Given the description of an element on the screen output the (x, y) to click on. 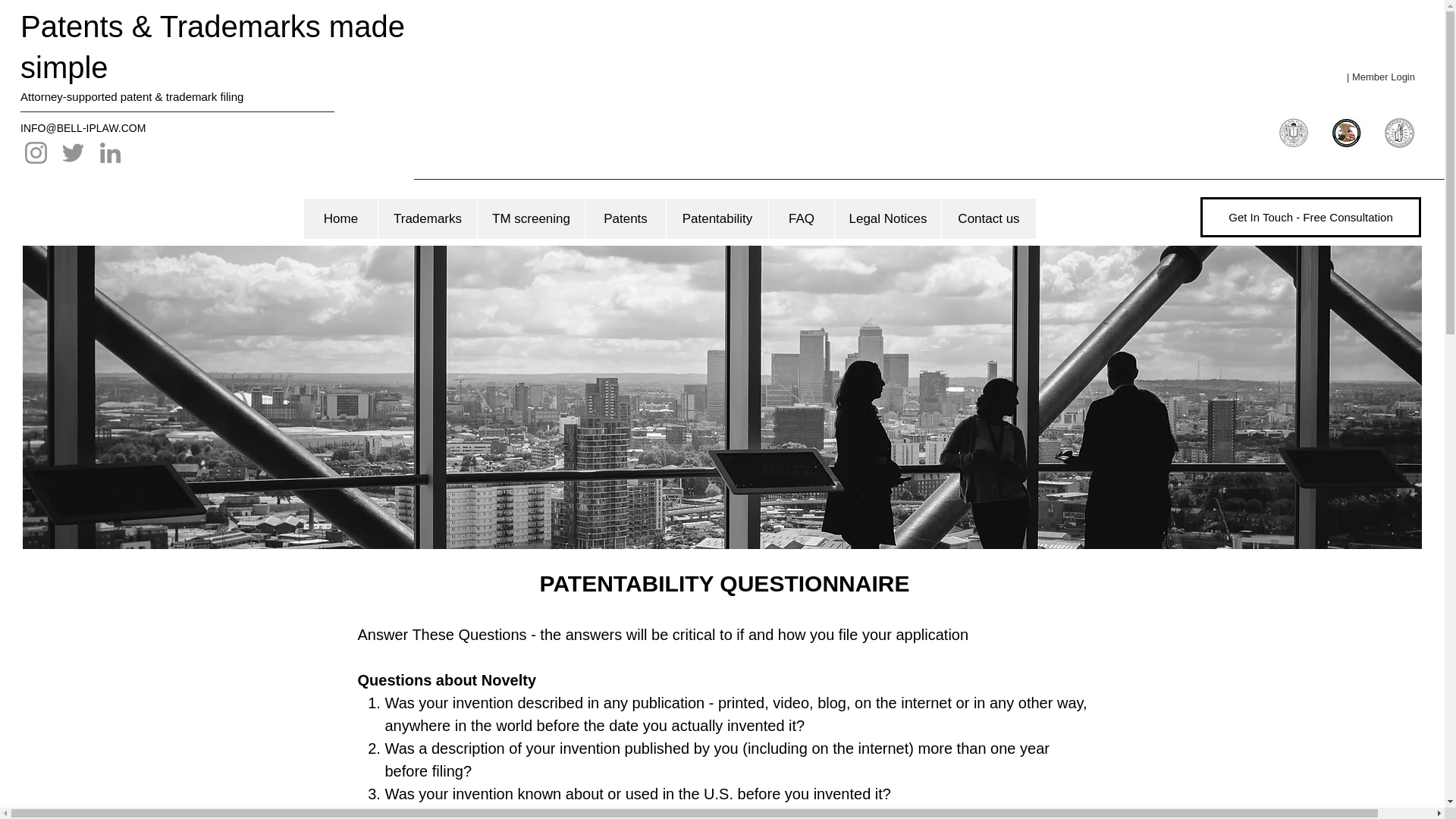
Trademarks (427, 219)
FAQ (801, 219)
Contact us (987, 219)
Get In Touch - Free Consultation (1310, 217)
Patentability (716, 219)
Home (340, 219)
court logos.JPG (1345, 132)
TM screening (531, 219)
Patents (625, 219)
Legal Notices (887, 219)
